Given the description of an element on the screen output the (x, y) to click on. 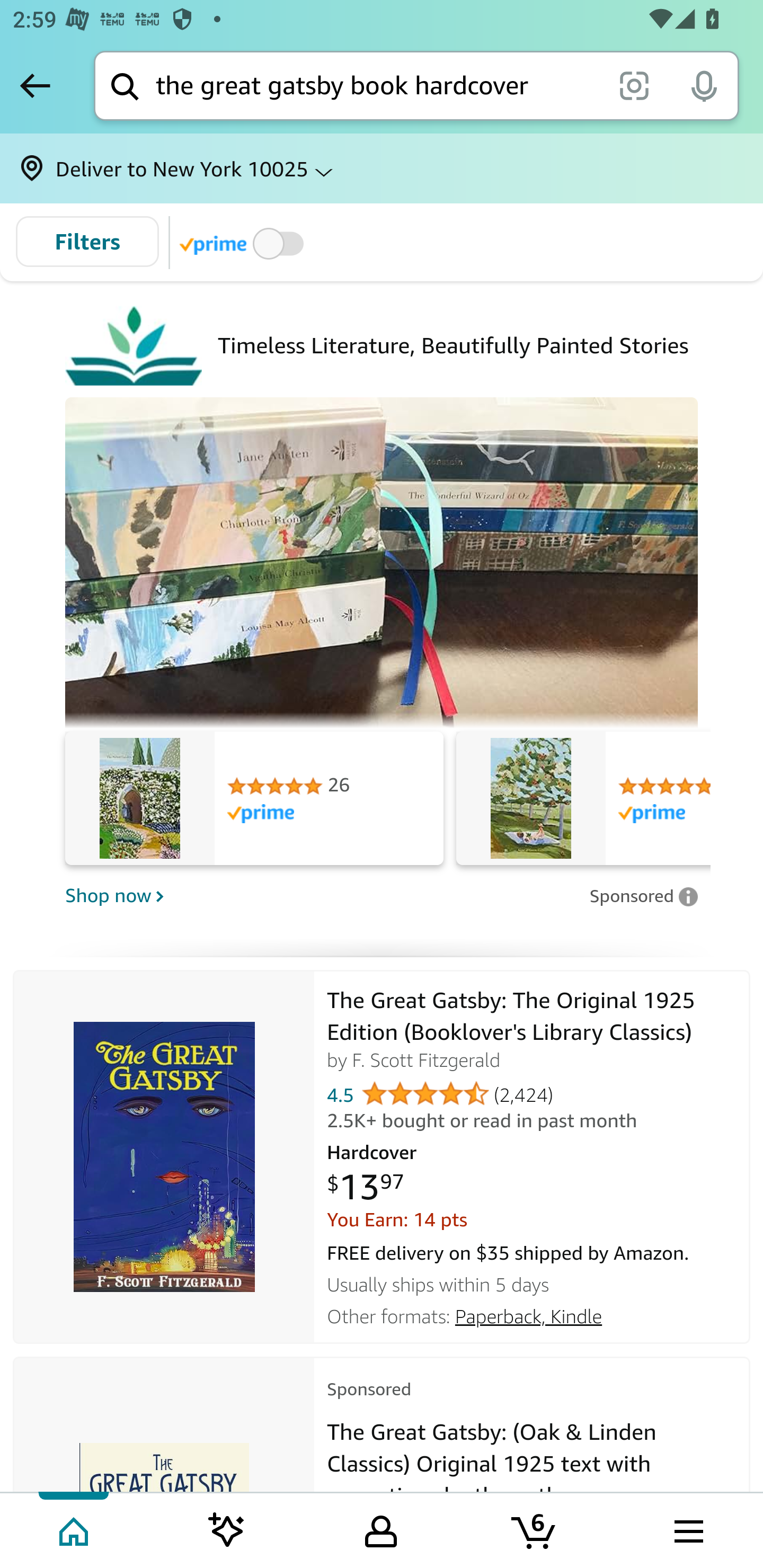
Back (35, 85)
scan it (633, 85)
Deliver to New York 10025 ⌵ (381, 168)
Filters (87, 241)
Toggle to filter by Prime products Prime Eligible (244, 242)
Shop now Shop  now  (321, 895)
Leave feedback on Sponsored ad (643, 896)
Home Tab 1 of 5 (75, 1529)
Inspire feed Tab 2 of 5 (227, 1529)
Your Amazon.com Tab 3 of 5 (380, 1529)
Cart 6 items Tab 4 of 5 6 (534, 1529)
Browse menu Tab 5 of 5 (687, 1529)
